Given the description of an element on the screen output the (x, y) to click on. 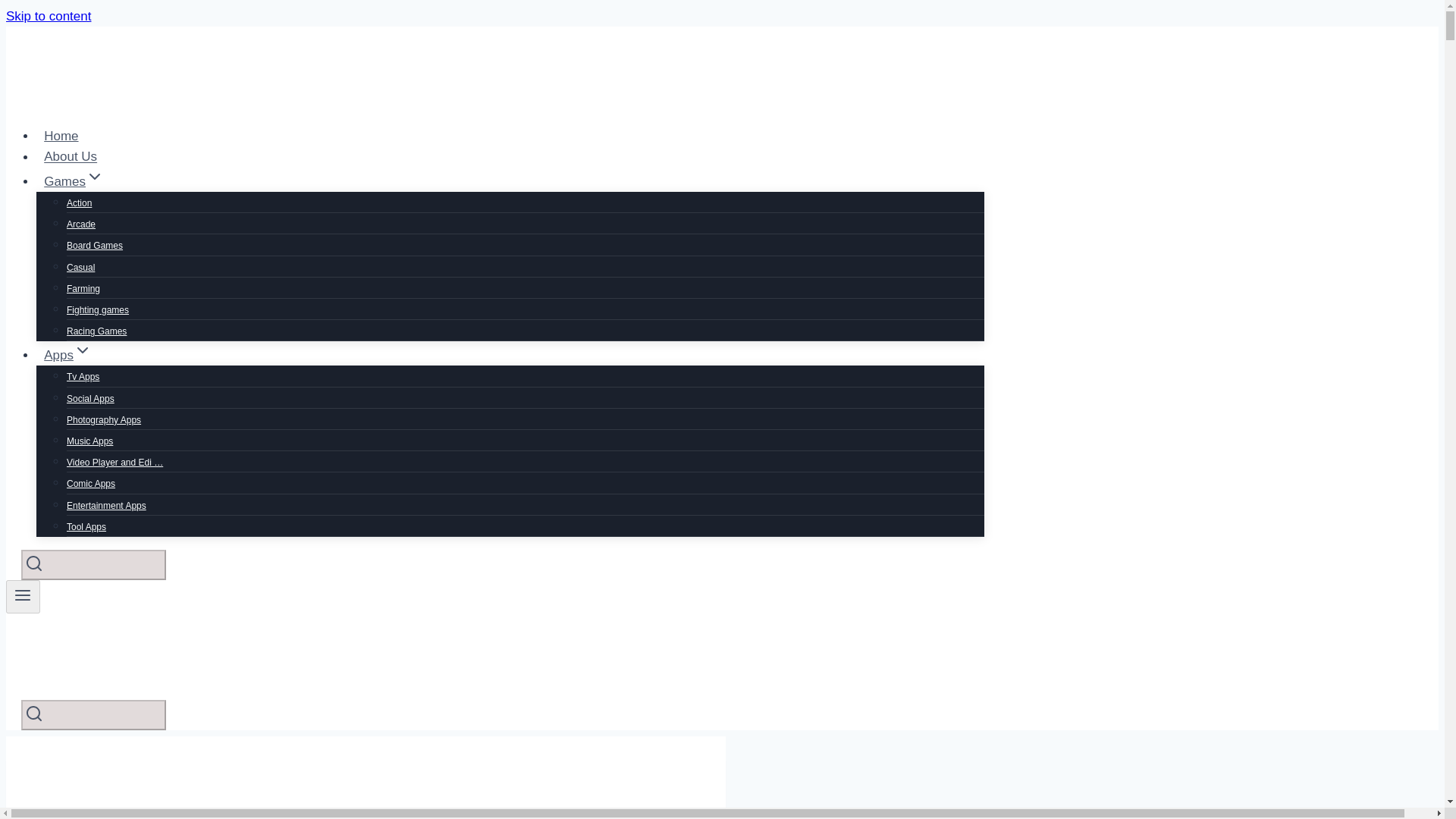
Arcade (81, 224)
Board Games (94, 245)
Home (60, 135)
Action (78, 203)
Toggle Menu (22, 595)
Music Apps (89, 440)
Search (33, 713)
Casual (80, 267)
Racing Games (96, 330)
Tool Apps (86, 526)
Photography Apps (103, 419)
Search (33, 563)
Skip to content (47, 16)
AppsExpand (67, 355)
Tv Apps (82, 376)
